Given the description of an element on the screen output the (x, y) to click on. 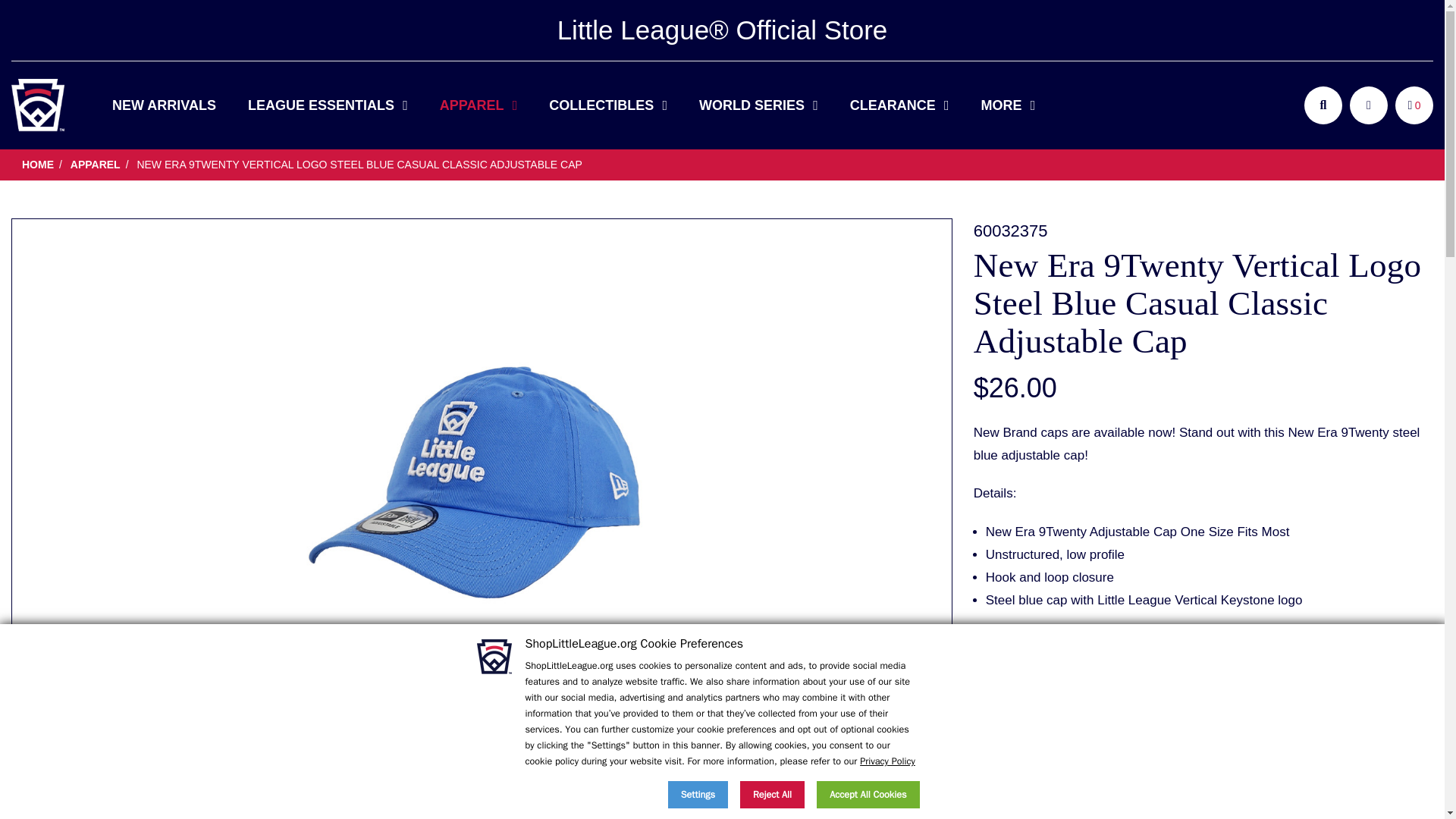
COLLECTIBLES (607, 105)
APPAREL (477, 105)
NEW ARRIVALS (163, 105)
LEAGUE ESSENTIALS (328, 105)
HOME (37, 104)
Add to Cart (1203, 682)
